Given the description of an element on the screen output the (x, y) to click on. 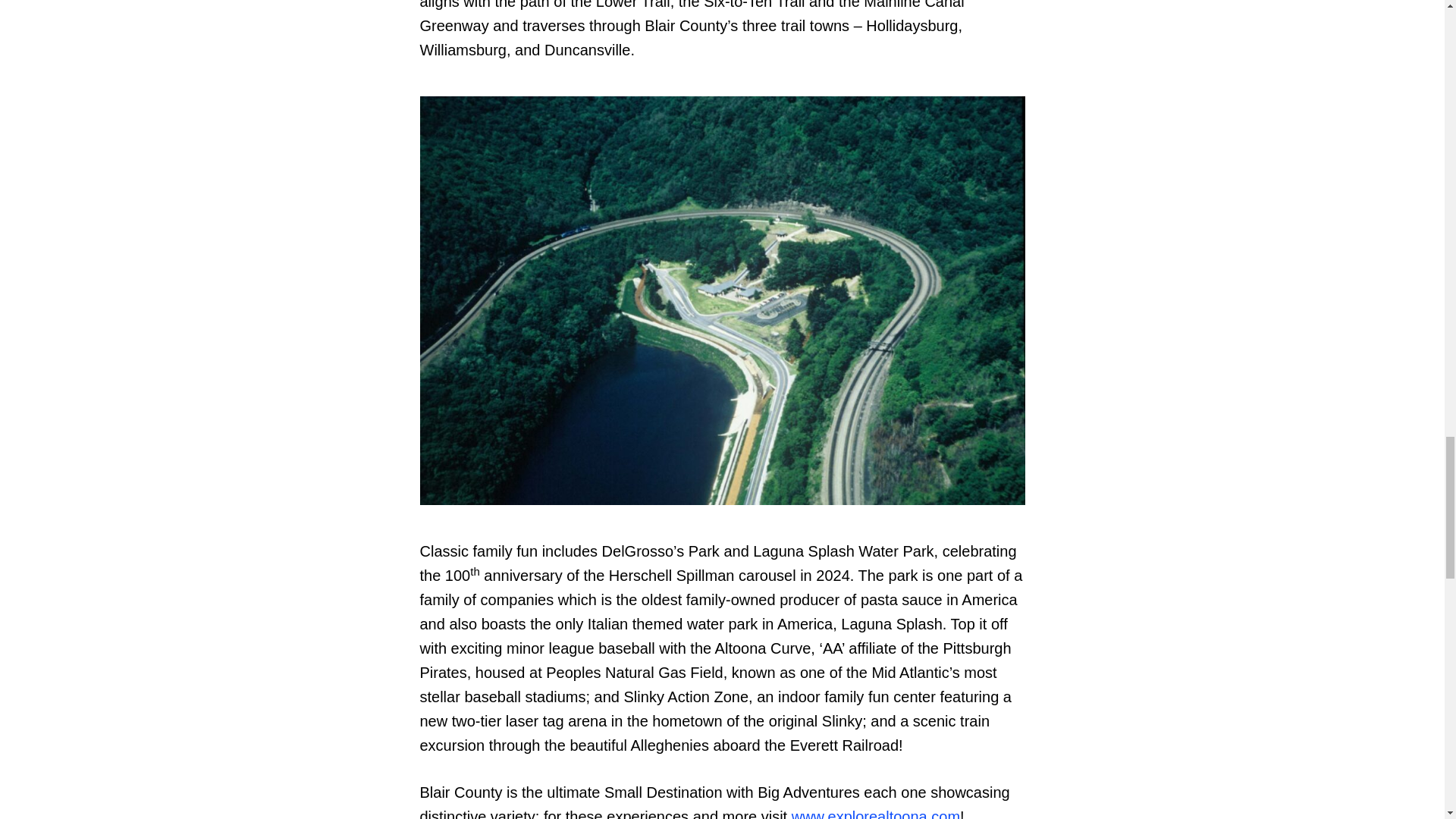
www.explorealtoona.com (875, 813)
